Given the description of an element on the screen output the (x, y) to click on. 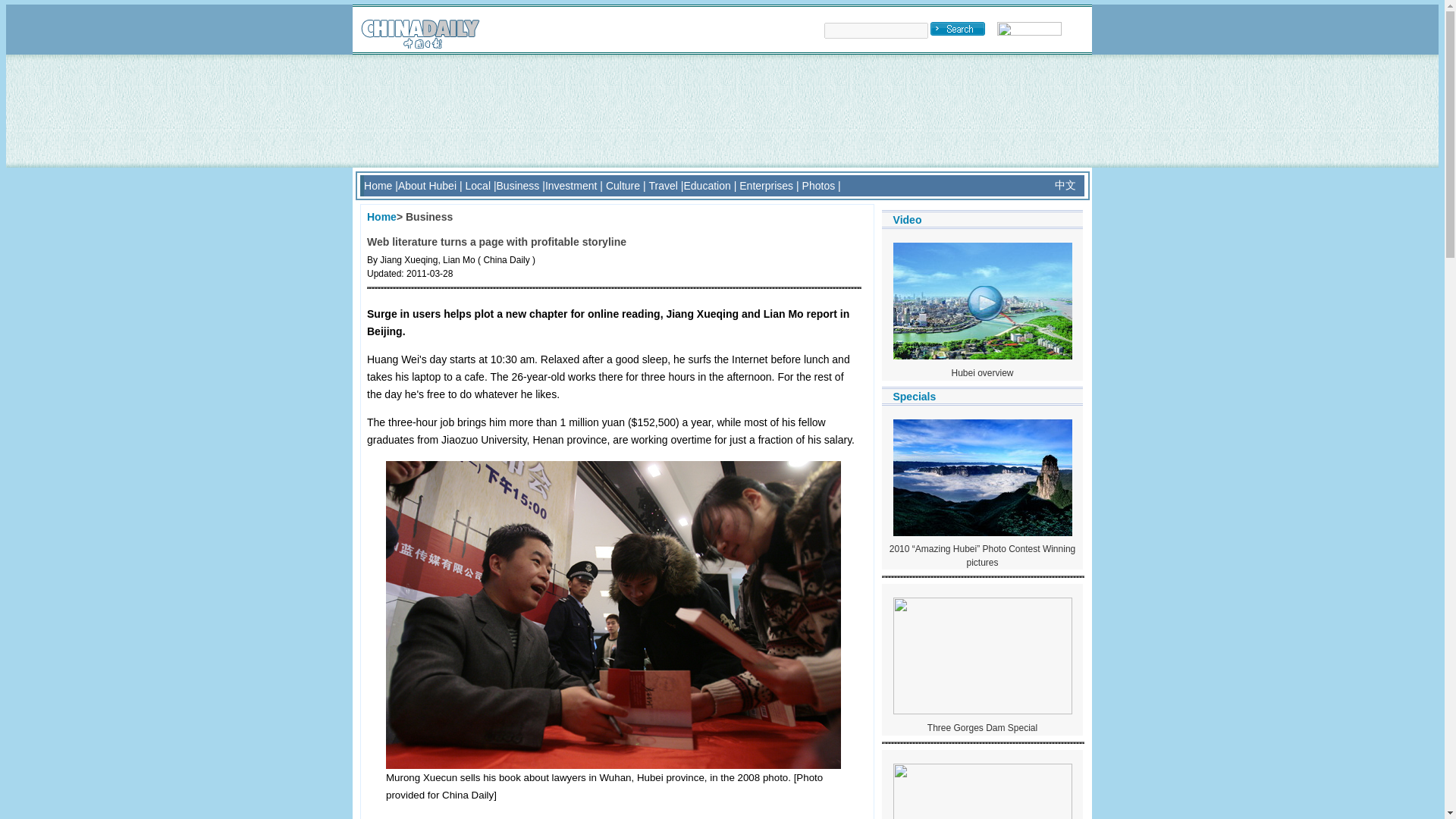
Specials (914, 395)
Hubei overview (981, 372)
Home (381, 216)
Three Gorges Dam Special (981, 727)
Video (907, 219)
